Given the description of an element on the screen output the (x, y) to click on. 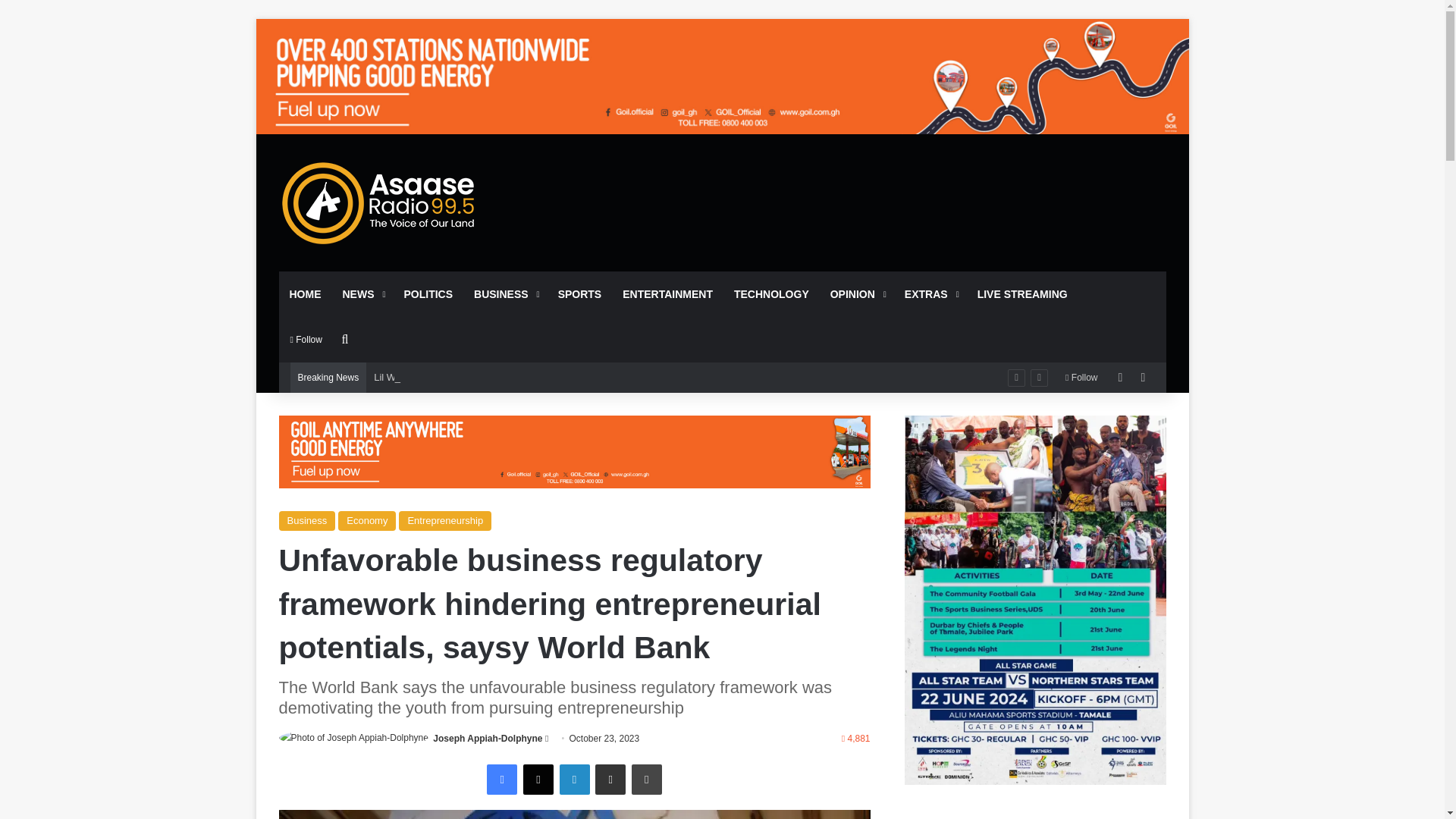
Joseph Appiah-Dolphyne (486, 738)
BUSINESS (505, 293)
NEWS (362, 293)
LinkedIn (574, 779)
Facebook (501, 779)
Print (646, 779)
POLITICS (428, 293)
Share via Email (610, 779)
HOME (305, 293)
X (537, 779)
Asaase Radio (379, 202)
